Given the description of an element on the screen output the (x, y) to click on. 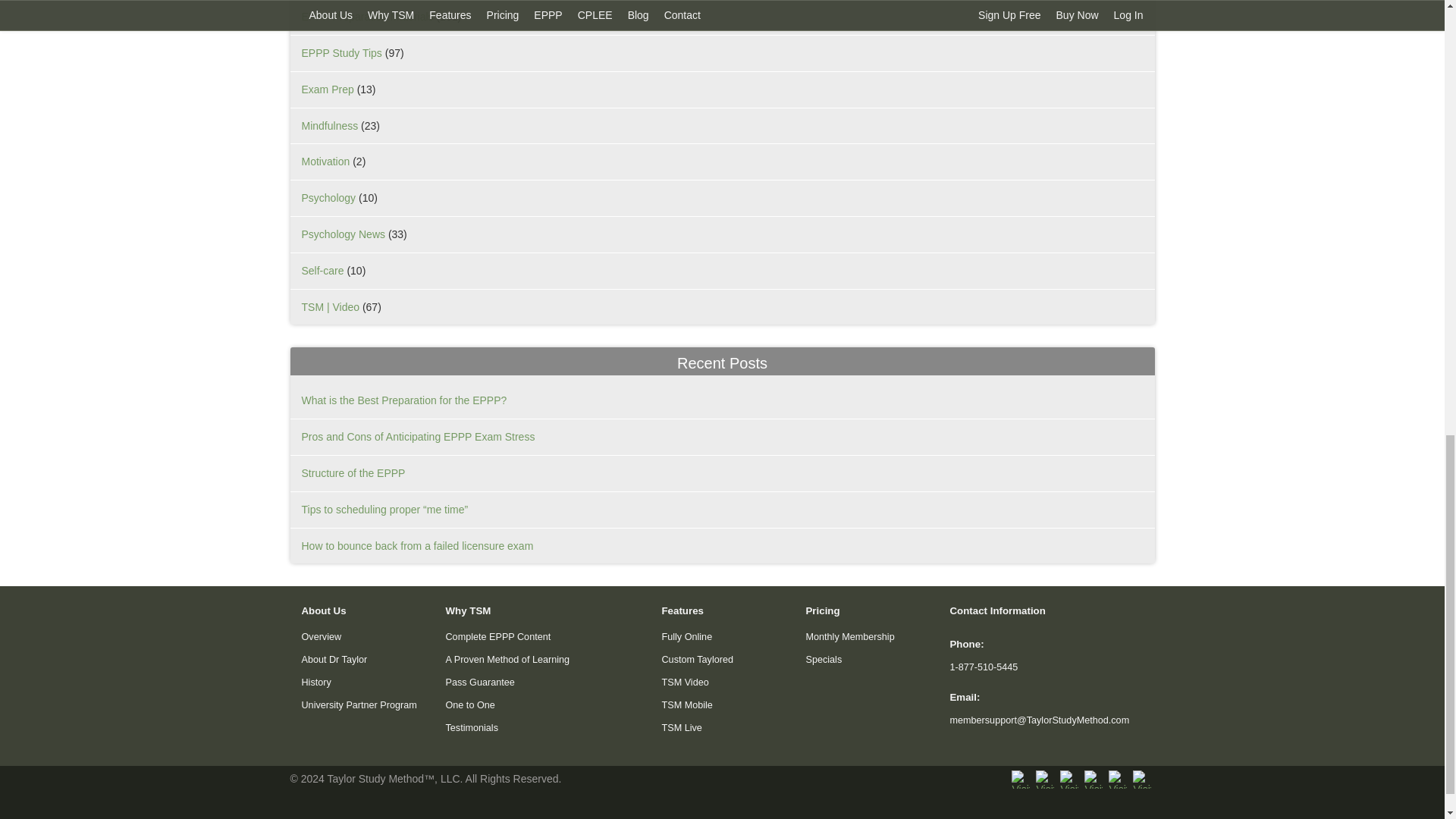
Motivation (325, 161)
Exam Prep (327, 89)
Self-care (322, 270)
Structure of the EPPP (353, 472)
Psychology (328, 197)
Pros and Cons of Anticipating EPPP Exam Stress (418, 436)
Mindfulness (329, 125)
EPPP Study Tips (341, 52)
Psychology News (343, 234)
EPPP Preparation Materials (367, 16)
What is the Best Preparation for the EPPP? (403, 399)
